Given the description of an element on the screen output the (x, y) to click on. 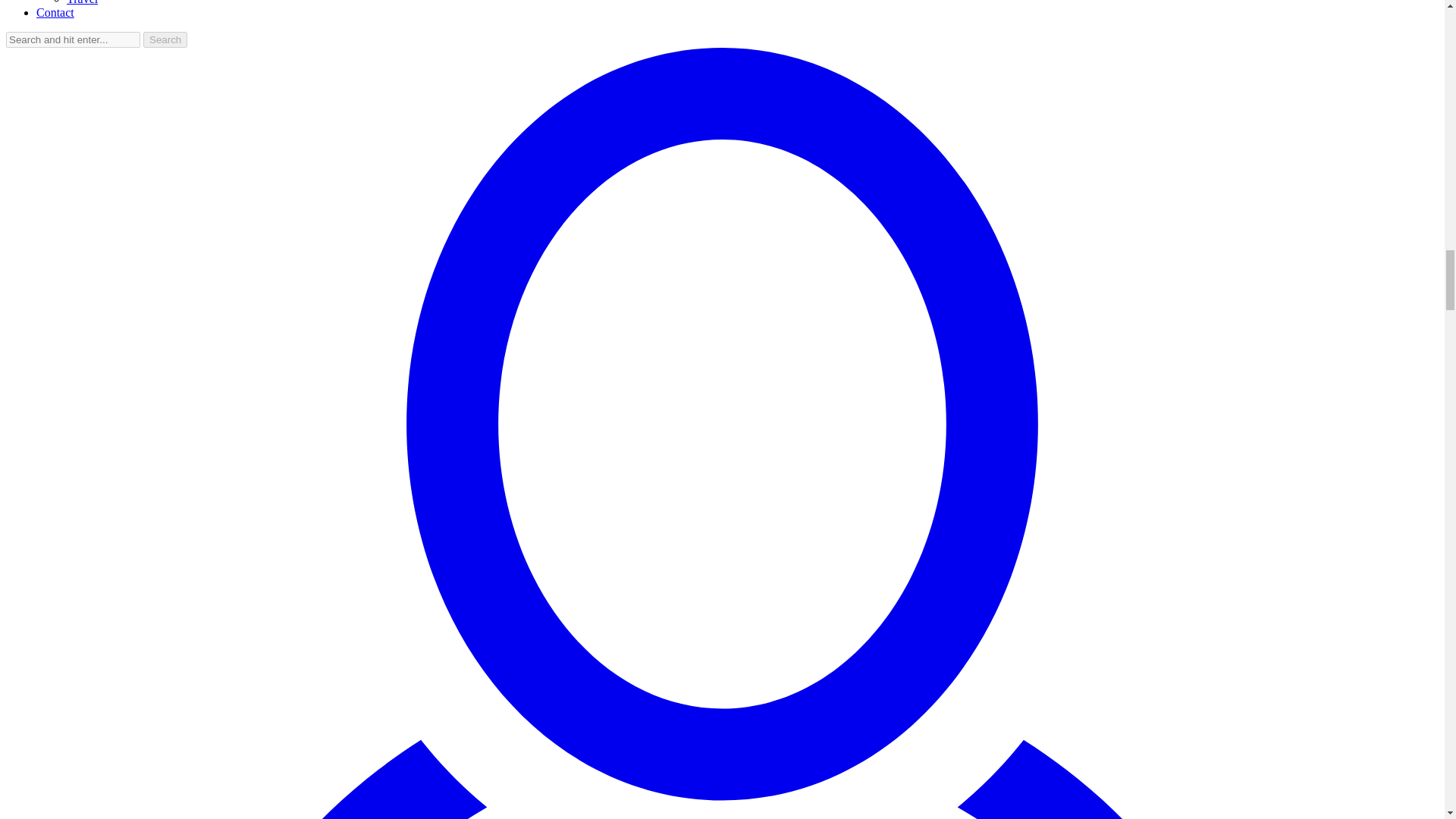
Travel (81, 2)
Search (164, 39)
Contact (55, 11)
Search (164, 39)
